Given the description of an element on the screen output the (x, y) to click on. 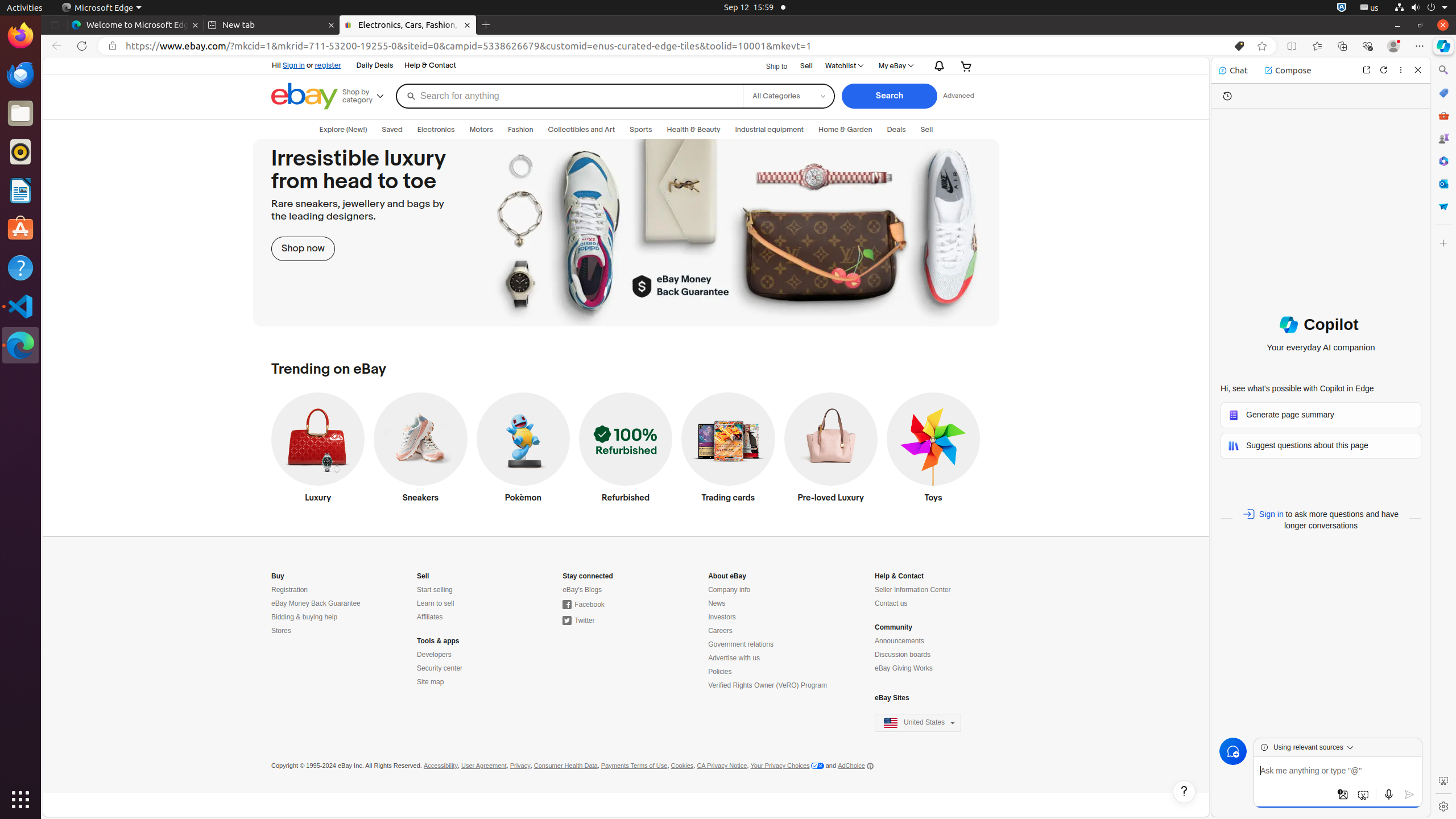
New Tab Element type: push-button (486, 25)
Settings Element type: push-button (1443, 806)
Luxury Element type: link (318, 450)
Affiliates Element type: link (429, 617)
Use microphone Element type: toggle-button (1388, 794)
